Given the description of an element on the screen output the (x, y) to click on. 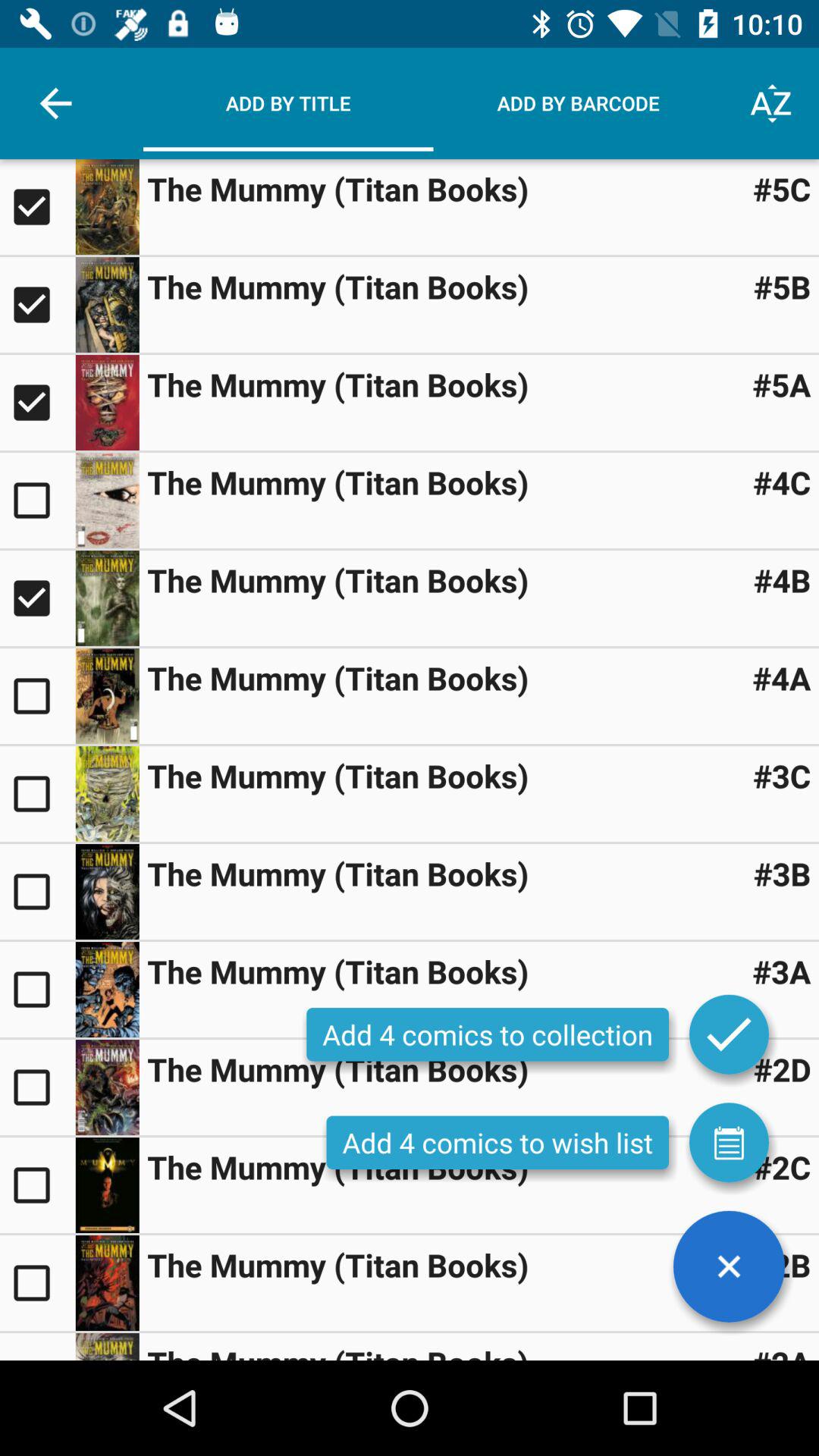
toggle selection (107, 500)
